Given the description of an element on the screen output the (x, y) to click on. 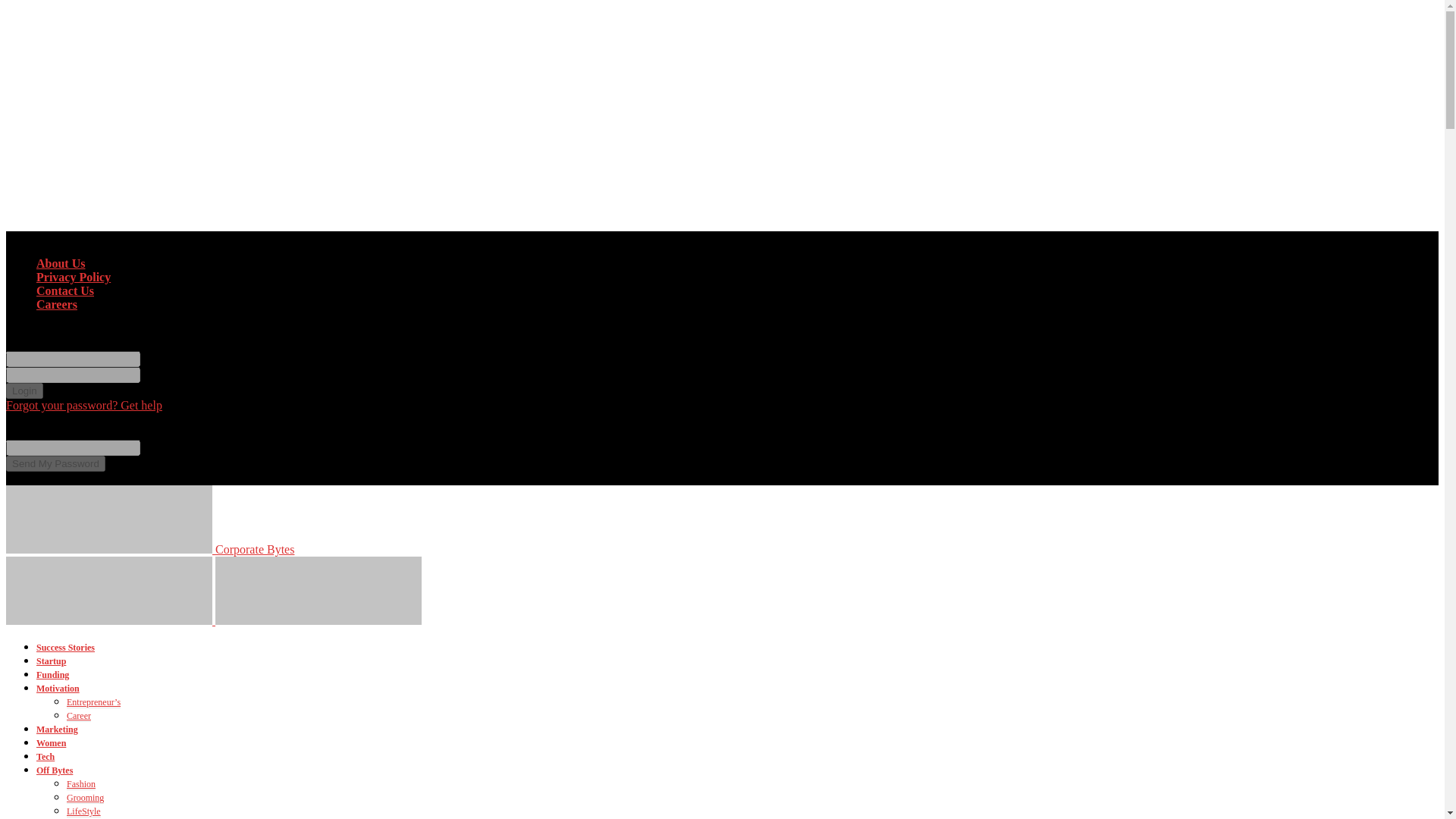
Motivation (58, 688)
Login (24, 390)
Career (78, 715)
Funding (52, 674)
Privacy Policy (73, 277)
About Us (60, 263)
Startup (50, 661)
Careers (56, 304)
Forgot your password? Get help (83, 404)
Success Stories (65, 647)
